Given the description of an element on the screen output the (x, y) to click on. 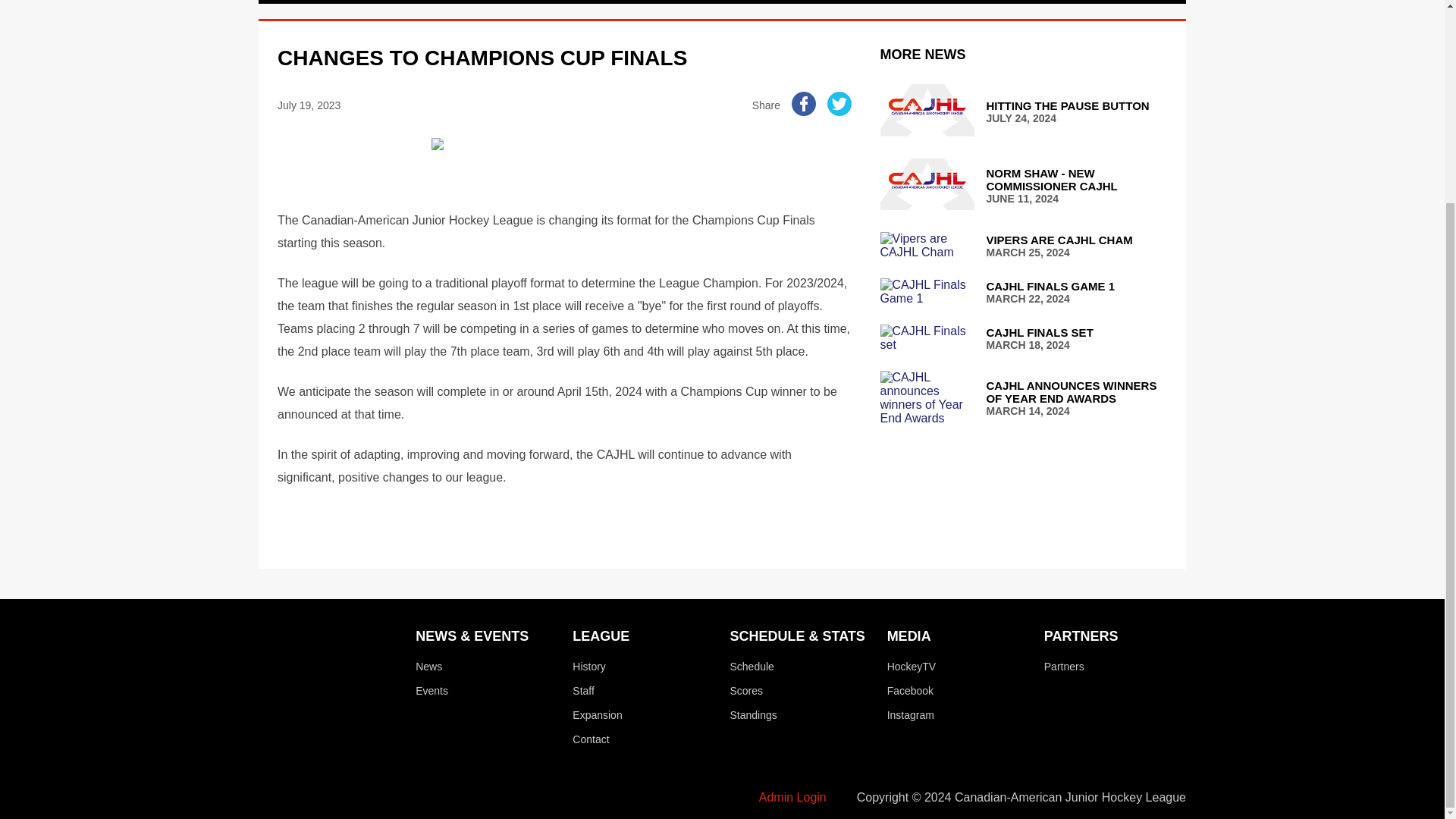
STAFF (1023, 111)
EXPANSION (1055, 2)
Staff (767, 2)
Schedule (583, 690)
COMMITMENTS (751, 666)
Events (1023, 245)
